Given the description of an element on the screen output the (x, y) to click on. 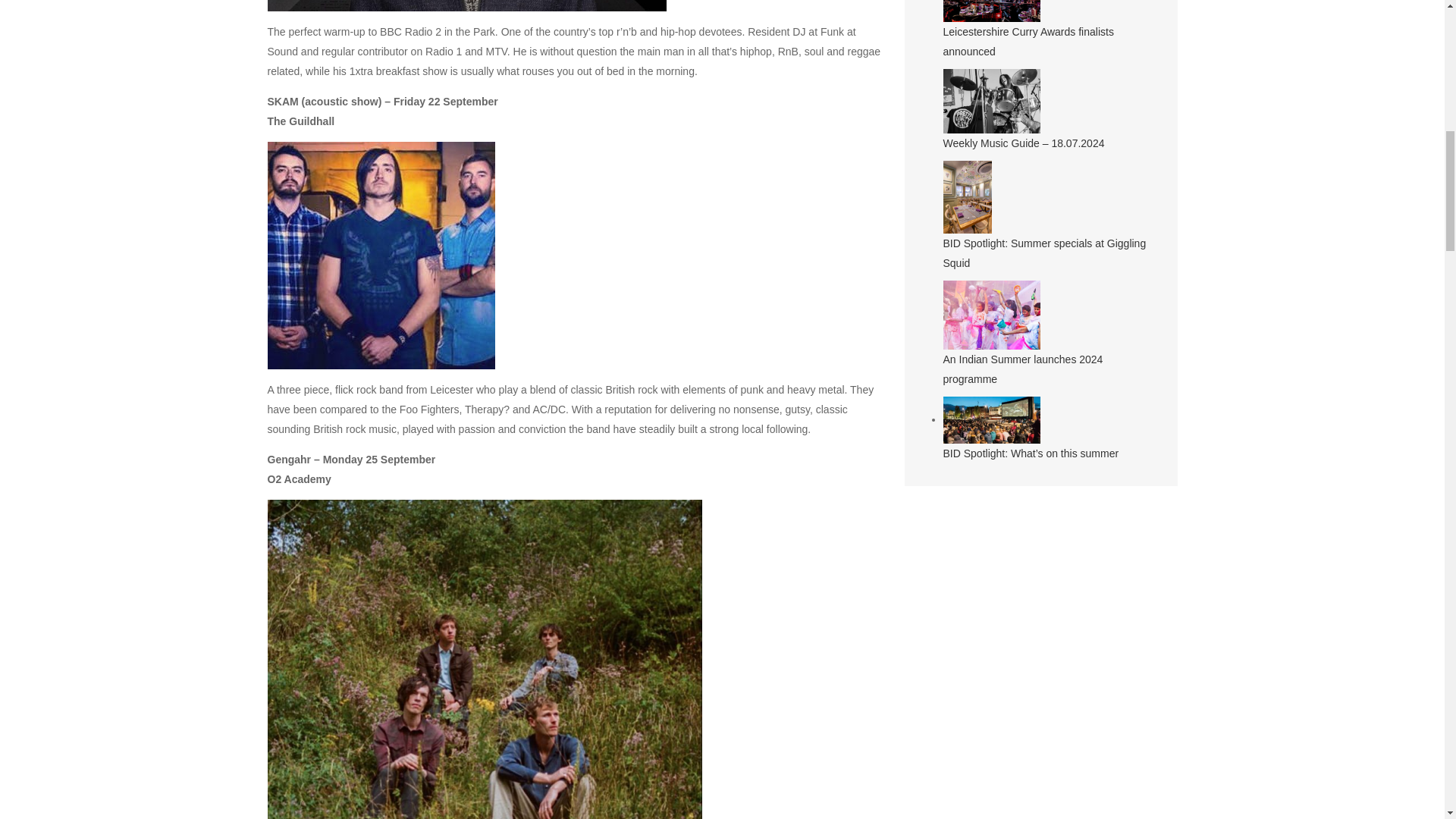
BID Spotlight: Summer specials at Giggling Squid (1045, 253)
Leicestershire Curry Awards finalists announced (1028, 41)
An Indian Summer launches 2024 programme (1023, 368)
